Given the description of an element on the screen output the (x, y) to click on. 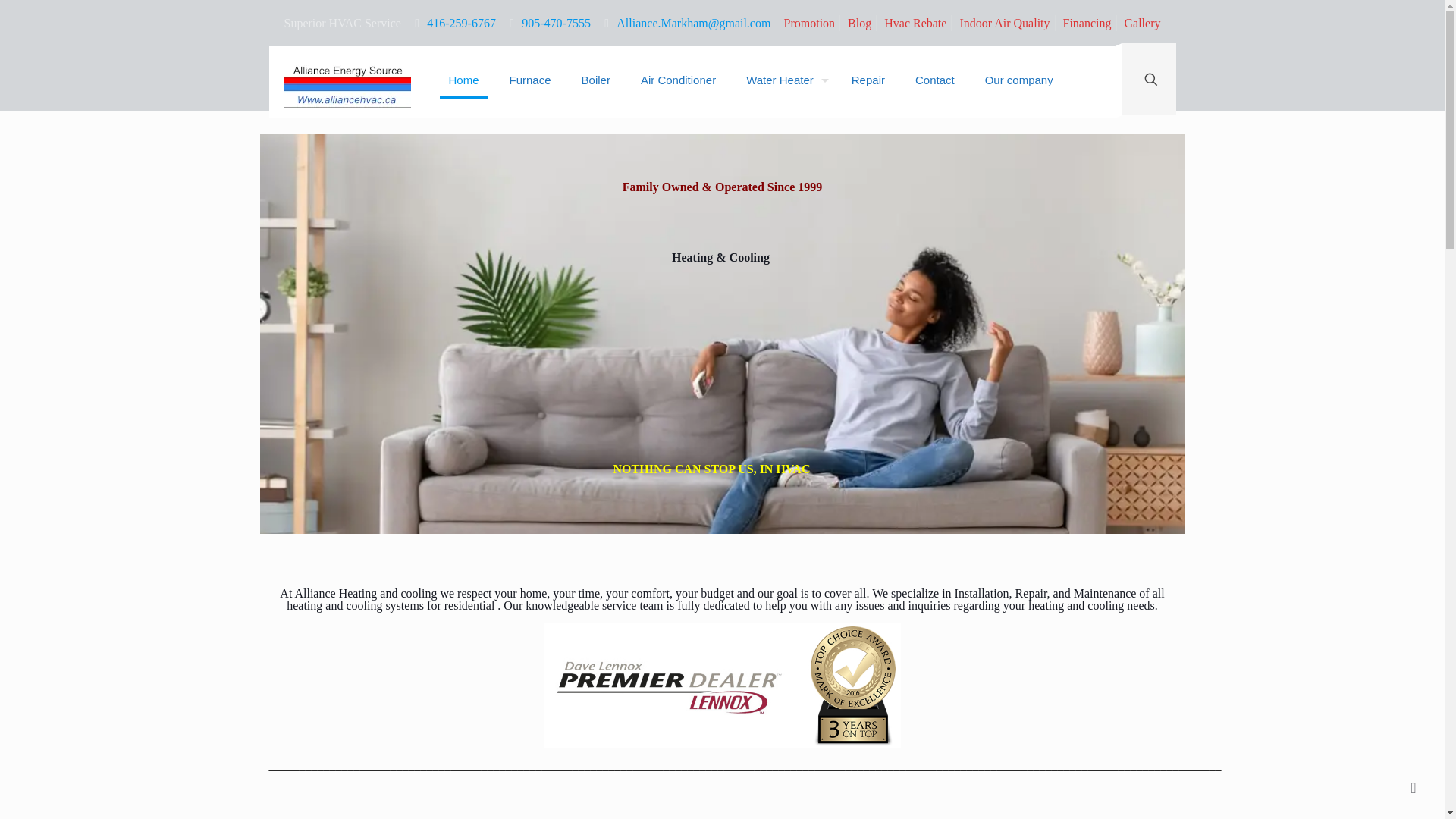
Contact (934, 79)
Promotion (809, 22)
Financing (1087, 22)
Water Heater (782, 79)
Our company (1018, 79)
Blog (858, 22)
416-259-6767 (461, 22)
Furnace (530, 79)
Hvac Rebate (914, 22)
Repair (867, 79)
Indoor Air Quality (1004, 22)
905-470-7555 (556, 22)
Gallery (1142, 22)
AllianceHVAC (346, 83)
Air Conditioner (678, 79)
